Given the description of an element on the screen output the (x, y) to click on. 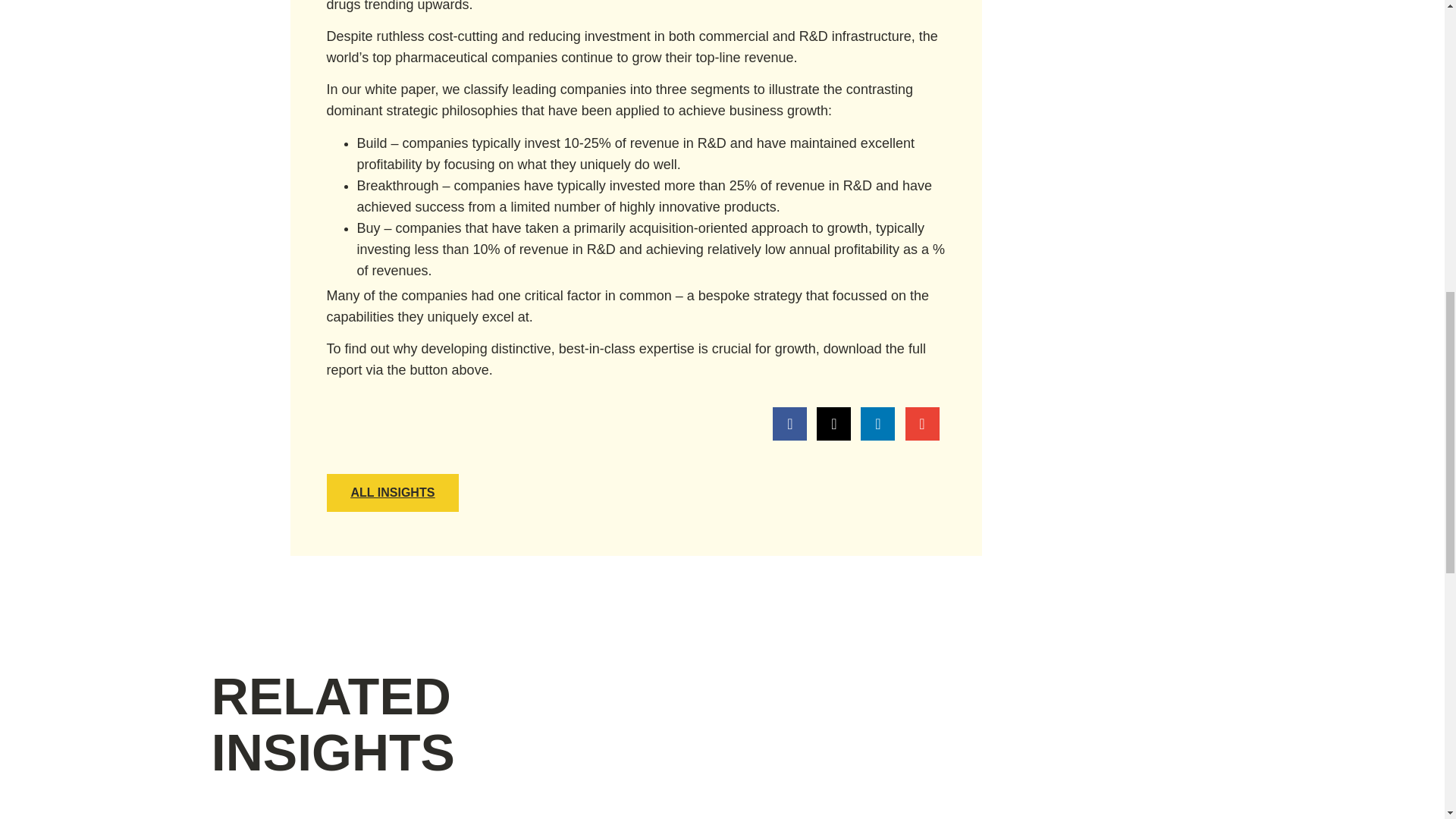
ALL INSIGHTS (392, 492)
